Given the description of an element on the screen output the (x, y) to click on. 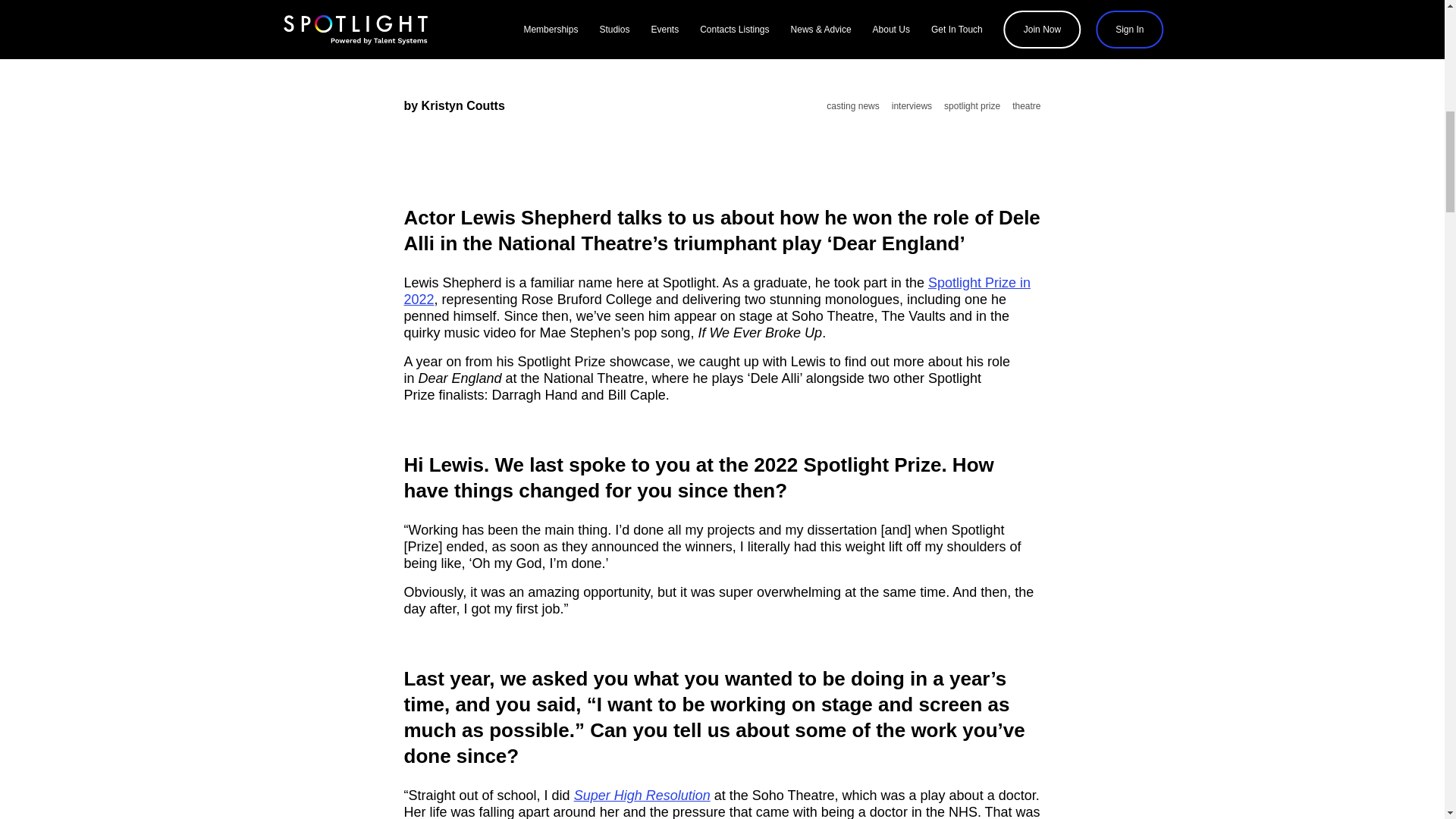
theatre (1026, 106)
casting news (853, 106)
interviews (911, 106)
spotlight prize (971, 106)
Super High Resolution (641, 795)
Spotlight Prize in 2022 (716, 291)
